Given the description of an element on the screen output the (x, y) to click on. 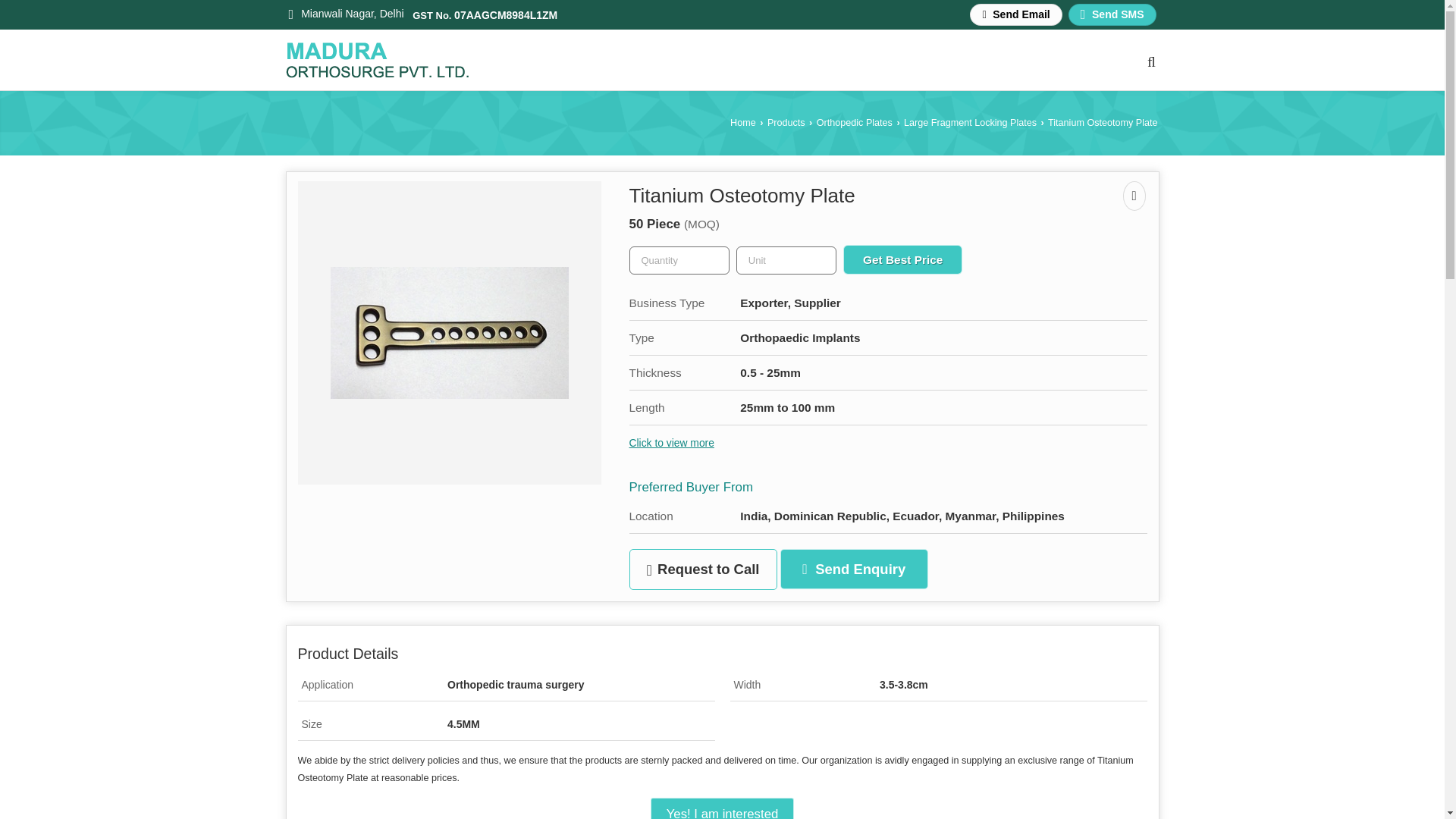
Send Email (1015, 14)
Madura Orthosurge Pvt. Ltd. (376, 59)
Madura Orthosurge Pvt. Ltd. (376, 59)
Send SMS (1112, 14)
